Given the description of an element on the screen output the (x, y) to click on. 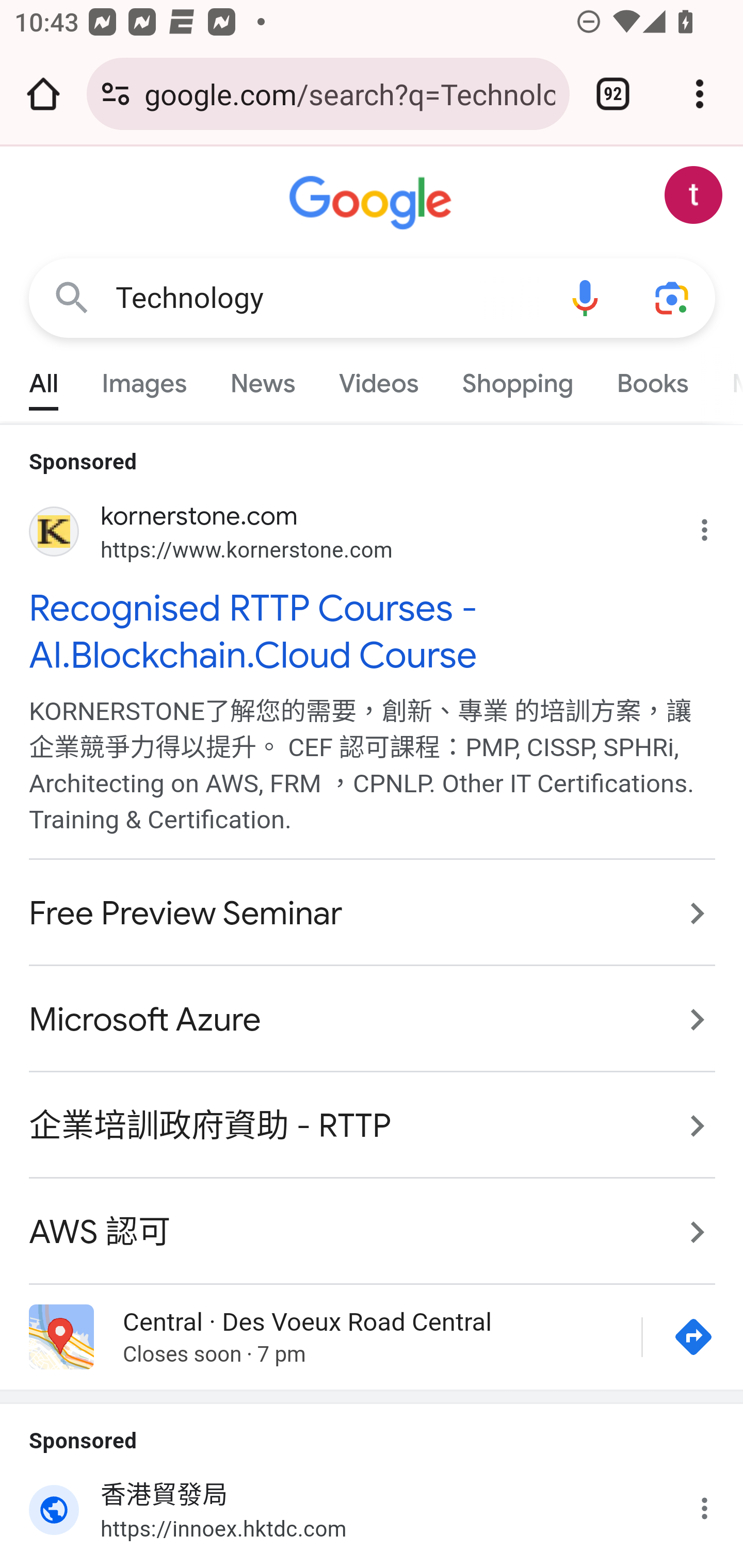
Open the home page (43, 93)
Connection is secure (115, 93)
Switch or close tabs (612, 93)
Customize and control Google Chrome (699, 93)
Google (372, 203)
Google Search (71, 296)
Search using your camera or photos (672, 296)
Technology (328, 297)
Images (144, 378)
News (262, 378)
Videos (378, 378)
Shopping (516, 378)
Books (652, 378)
Why this ad? (714, 525)
Free Preview Seminar (372, 913)
Microsoft Azure (372, 1020)
企業培訓政府資助 - RTTP (372, 1126)
AWS 認可 (372, 1221)
Why this ad? (714, 1504)
